Given the description of an element on the screen output the (x, y) to click on. 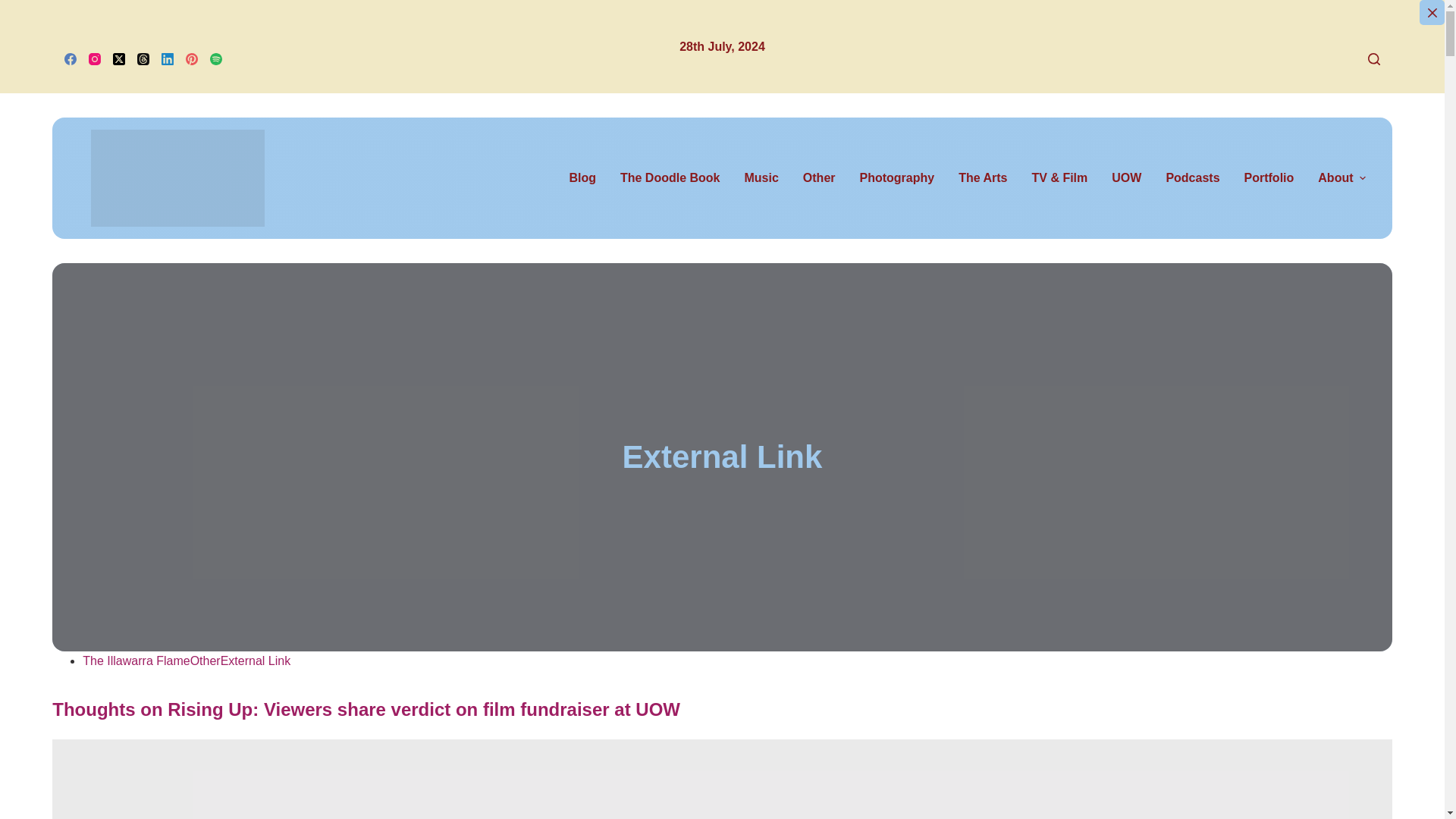
The Arts (982, 178)
Photography (897, 178)
Skip to content (15, 7)
Music (761, 178)
External Link (722, 457)
Portfolio (1268, 178)
Blog (588, 178)
UOW (1126, 178)
Podcasts (1192, 178)
The Doodle Book (670, 178)
Other (818, 178)
